Given the description of an element on the screen output the (x, y) to click on. 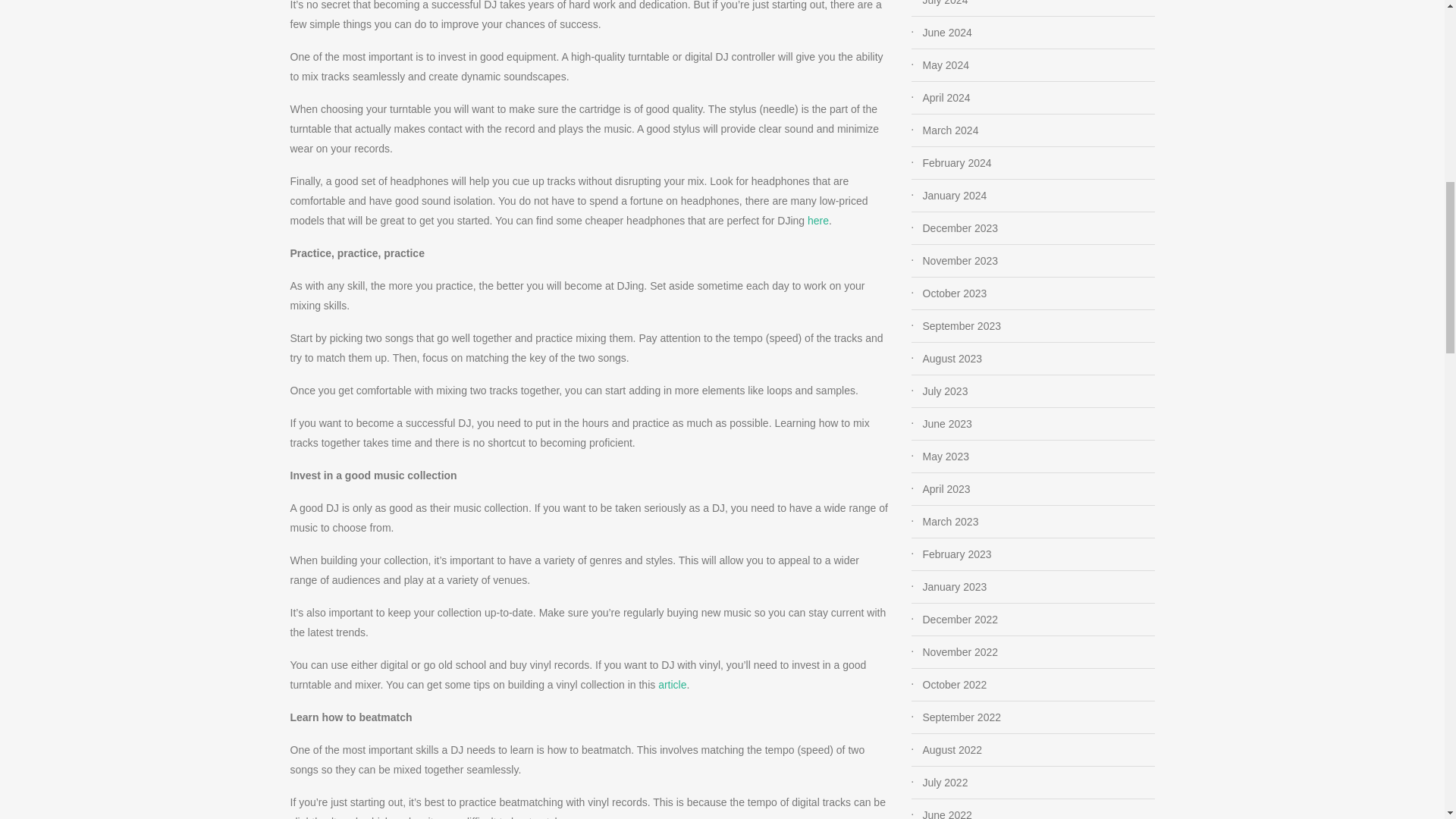
here (818, 220)
article (671, 684)
